Given the description of an element on the screen output the (x, y) to click on. 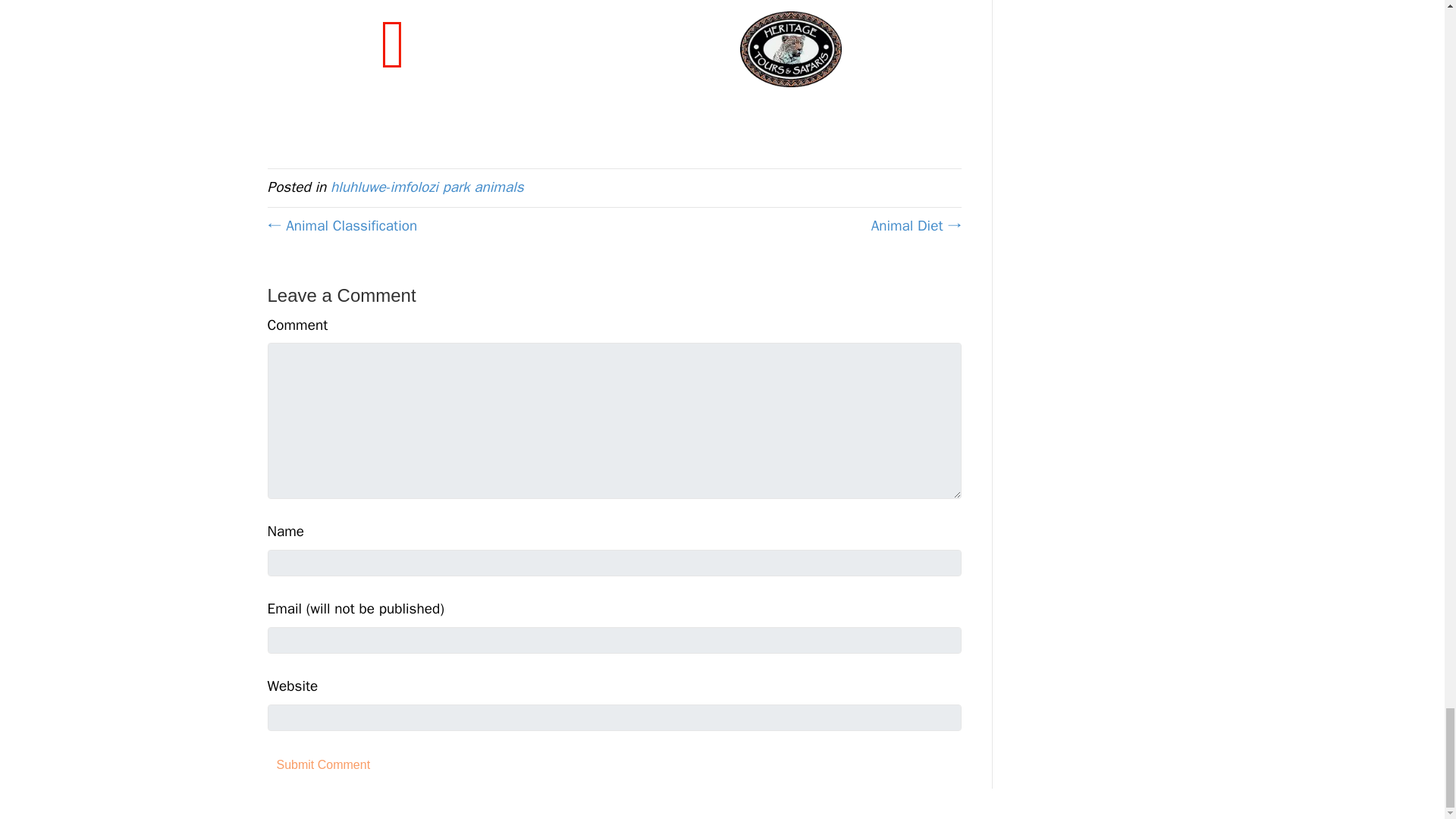
African Baboon 9 (835, 48)
Submit Comment (322, 764)
Submit Comment (322, 764)
hluhluwe-imfolozi park animals (427, 187)
